Given the description of an element on the screen output the (x, y) to click on. 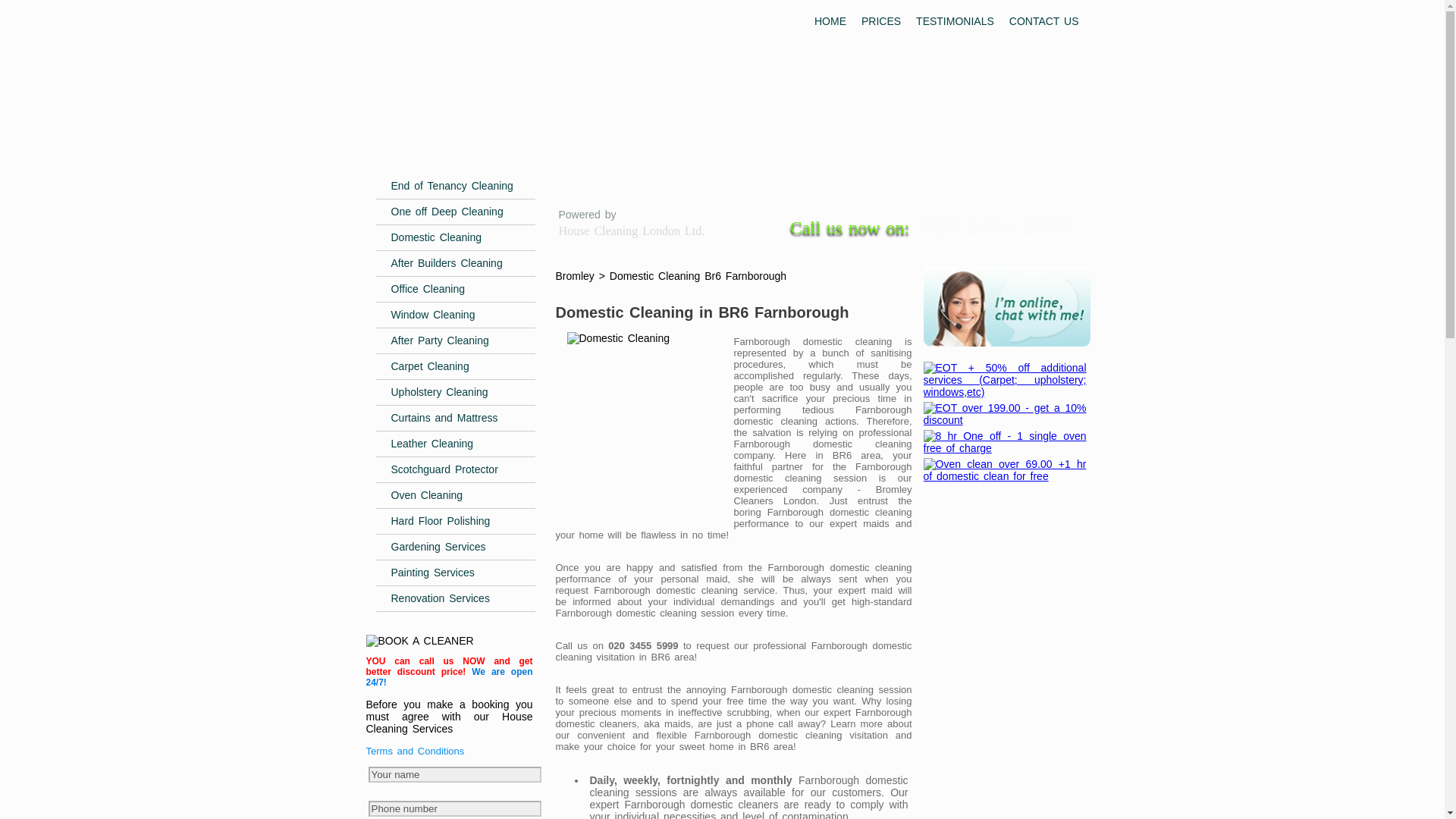
Oven Cleaning (455, 495)
CONTACT US (1043, 21)
One off Deep Cleaning (455, 212)
Scotchgard Protector (455, 470)
Scotchguard Protector (455, 470)
Phone number (454, 808)
Window Cleaning (455, 315)
Hard Floor Polishing (455, 521)
Terms and Conditions (414, 750)
After Builders Cleaning (455, 263)
